Given the description of an element on the screen output the (x, y) to click on. 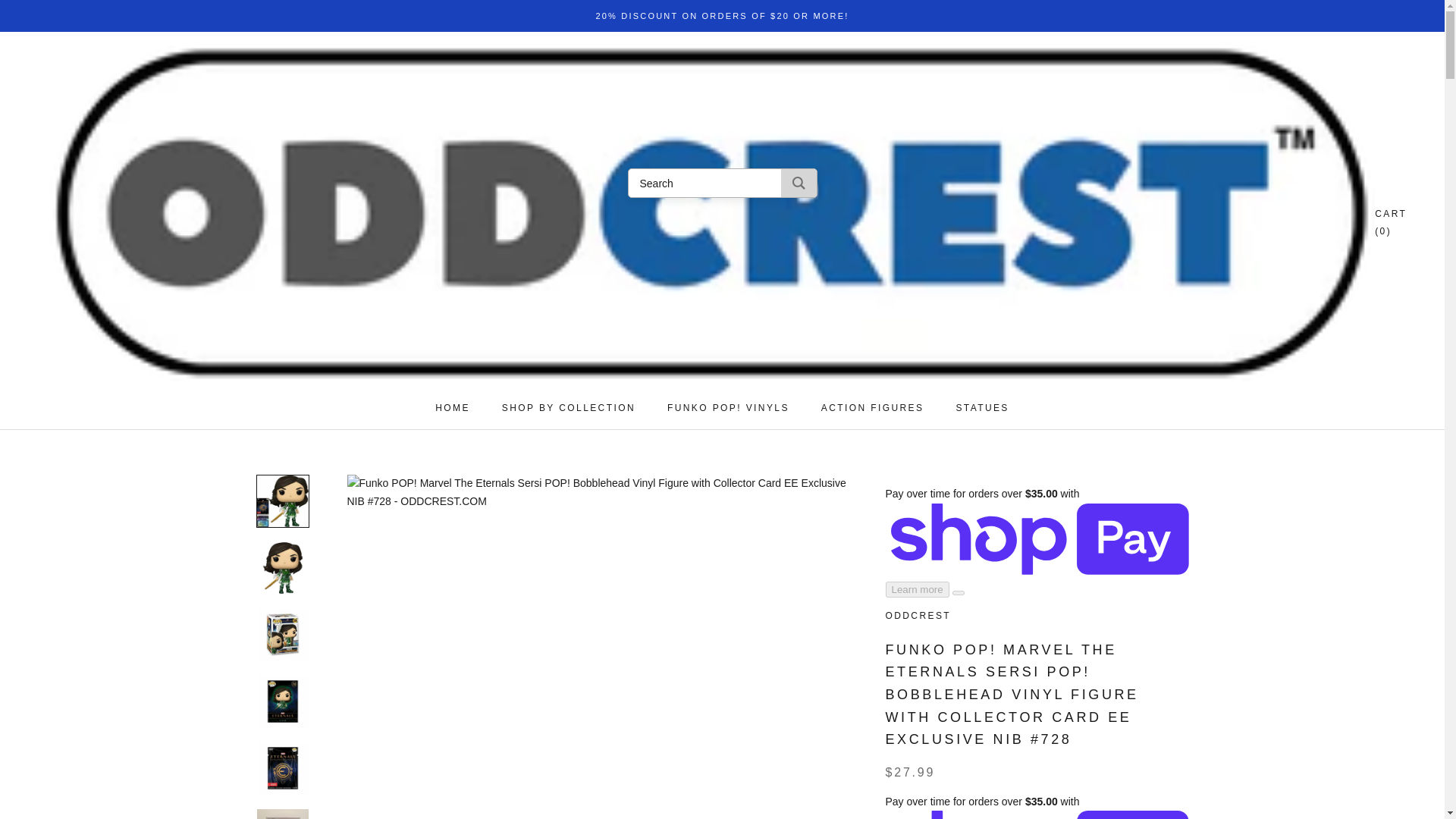
SHOP BY COLLECTION (452, 407)
